Given the description of an element on the screen output the (x, y) to click on. 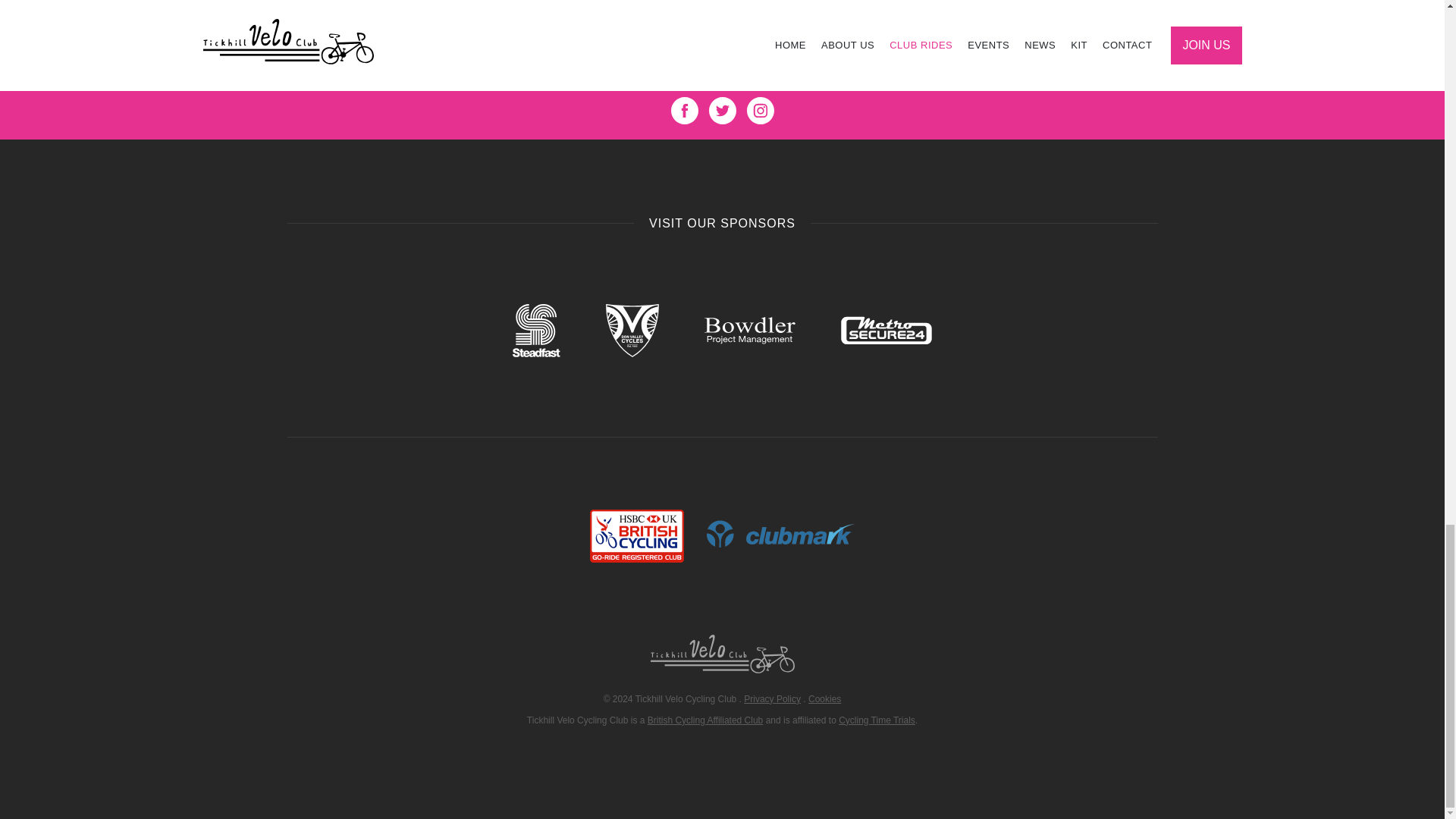
British Cycling Affiliated Club (704, 719)
Cookies (824, 698)
Privacy Policy (772, 698)
Cycling Time Trials (876, 719)
